Given the description of an element on the screen output the (x, y) to click on. 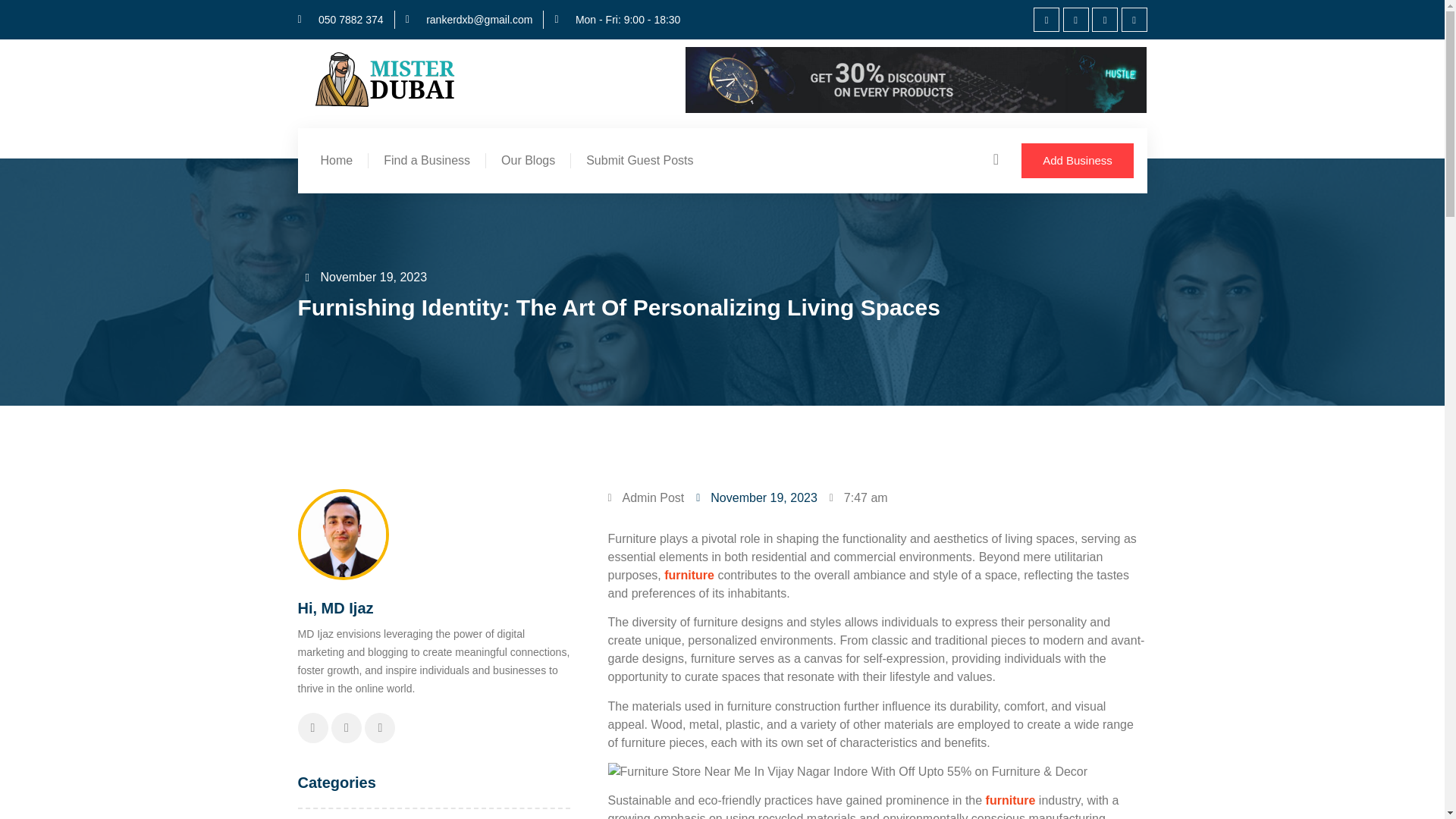
050 7882 374 (339, 19)
November 19, 2023 (365, 277)
Our Blogs (528, 160)
Find a Business (426, 160)
Add Business (1078, 161)
Home (336, 160)
Submit Guest Posts (638, 160)
